Given the description of an element on the screen output the (x, y) to click on. 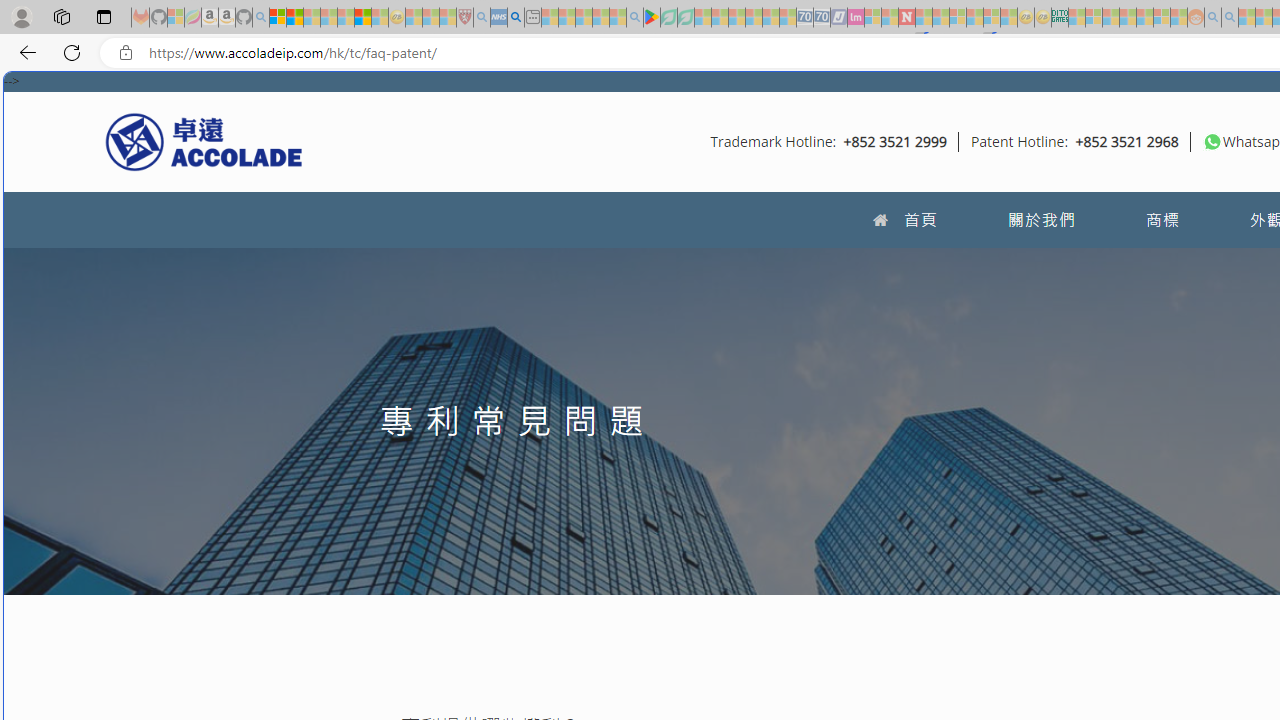
Bluey: Let's Play! - Apps on Google Play - Sleeping (651, 17)
DITOGAMES AG Imprint (1059, 17)
NCL Adult Asthma Inhaler Choice Guideline - Sleeping (498, 17)
Cheap Hotels - Save70.com - Sleeping (821, 17)
Terms of Use Agreement - Sleeping (668, 17)
Kinda Frugal - MSN - Sleeping (1144, 17)
